Given the description of an element on the screen output the (x, y) to click on. 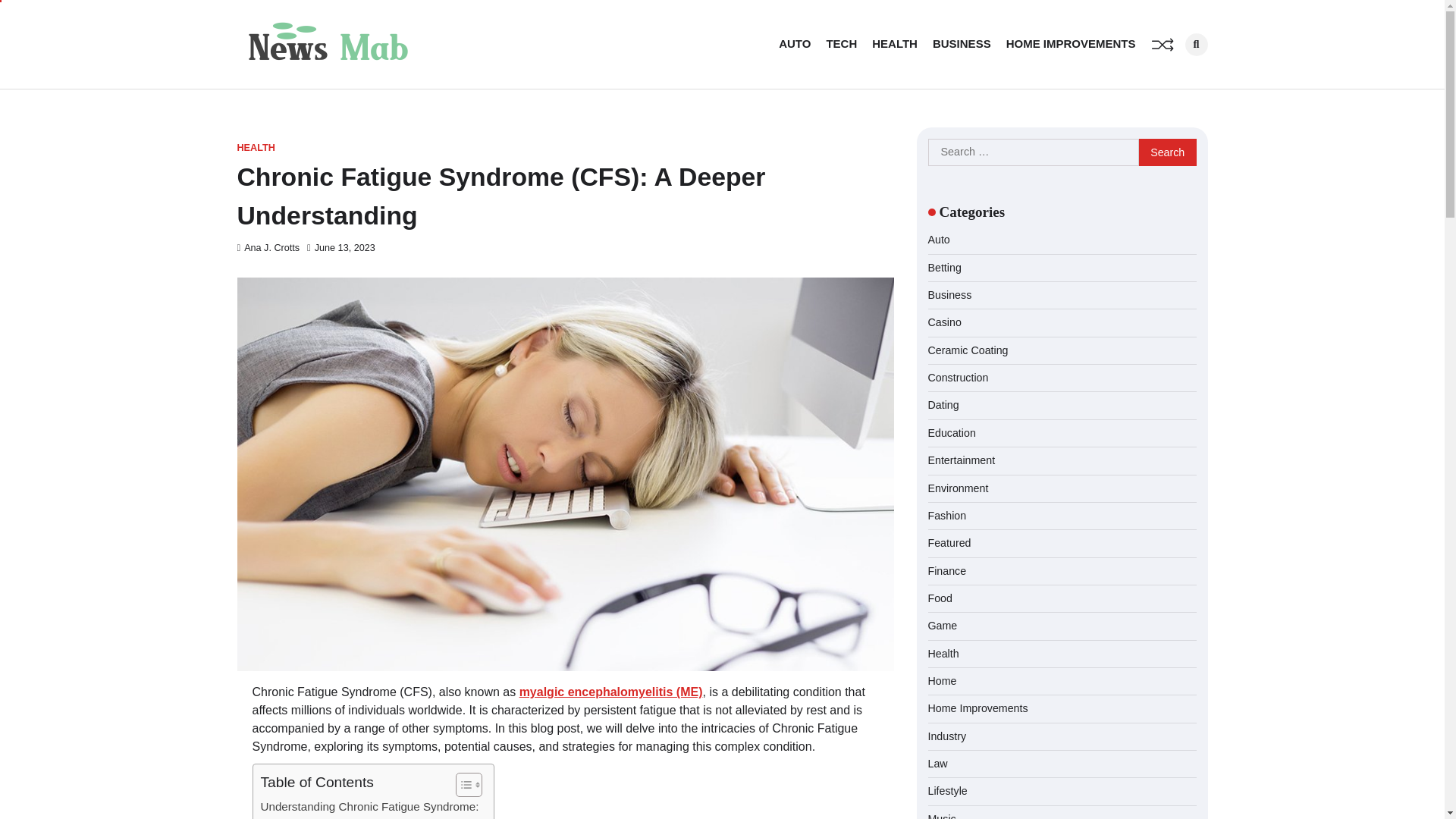
Understanding Chronic Fatigue Syndrome: (369, 806)
Symptoms of Chronic Fatigue Syndrome: (365, 817)
BUSINESS (962, 43)
HOME IMPROVEMENTS (1070, 43)
Fashion (947, 515)
Education (951, 432)
Search (1196, 44)
Betting (944, 267)
Symptoms of Chronic Fatigue Syndrome: (365, 817)
Dating (943, 404)
Auto (939, 239)
HEALTH (255, 147)
Search (1167, 152)
Search (1167, 152)
June 13, 2023 (341, 247)
